Given the description of an element on the screen output the (x, y) to click on. 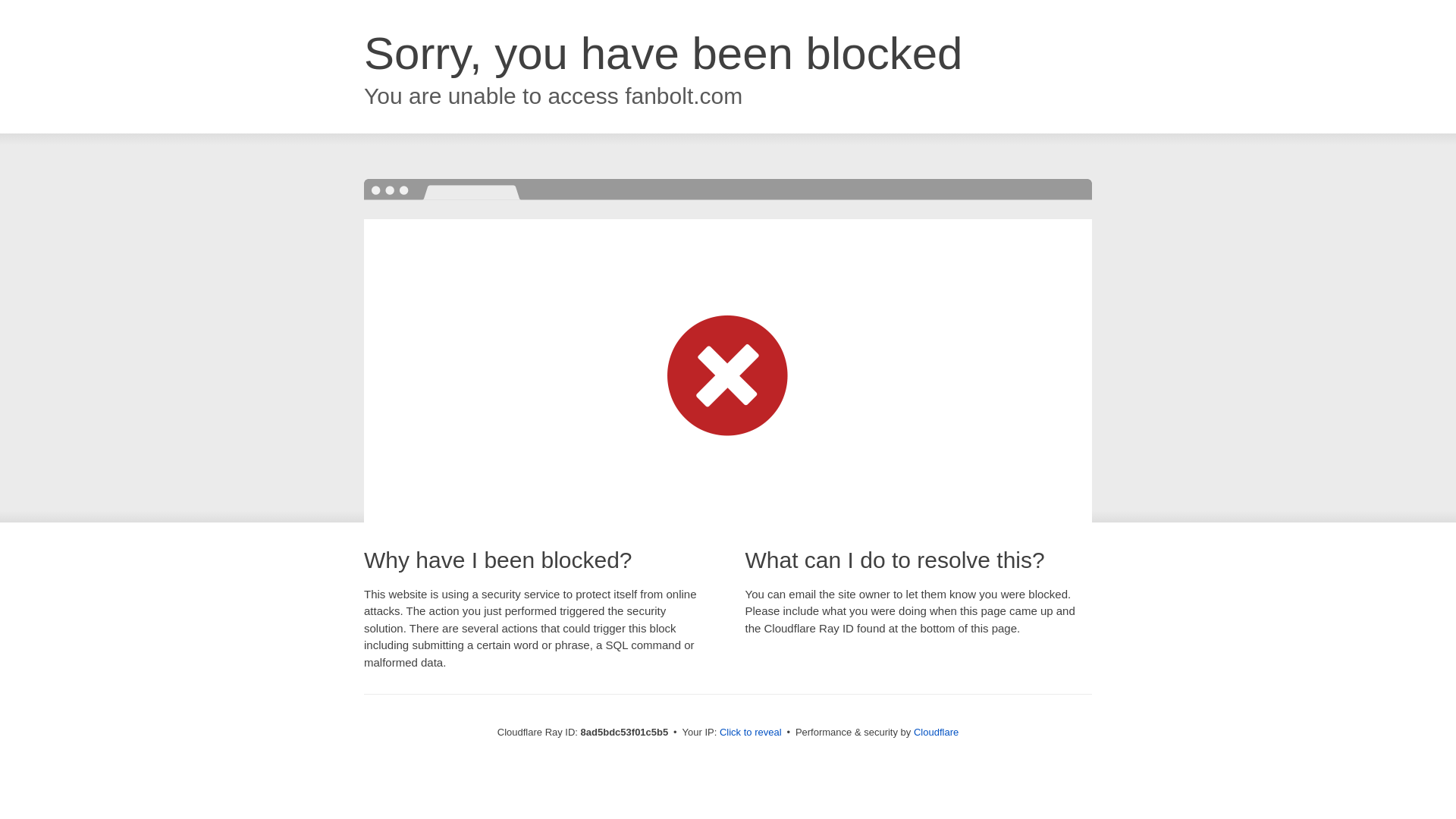
Click to reveal (750, 732)
Cloudflare (936, 731)
